Given the description of an element on the screen output the (x, y) to click on. 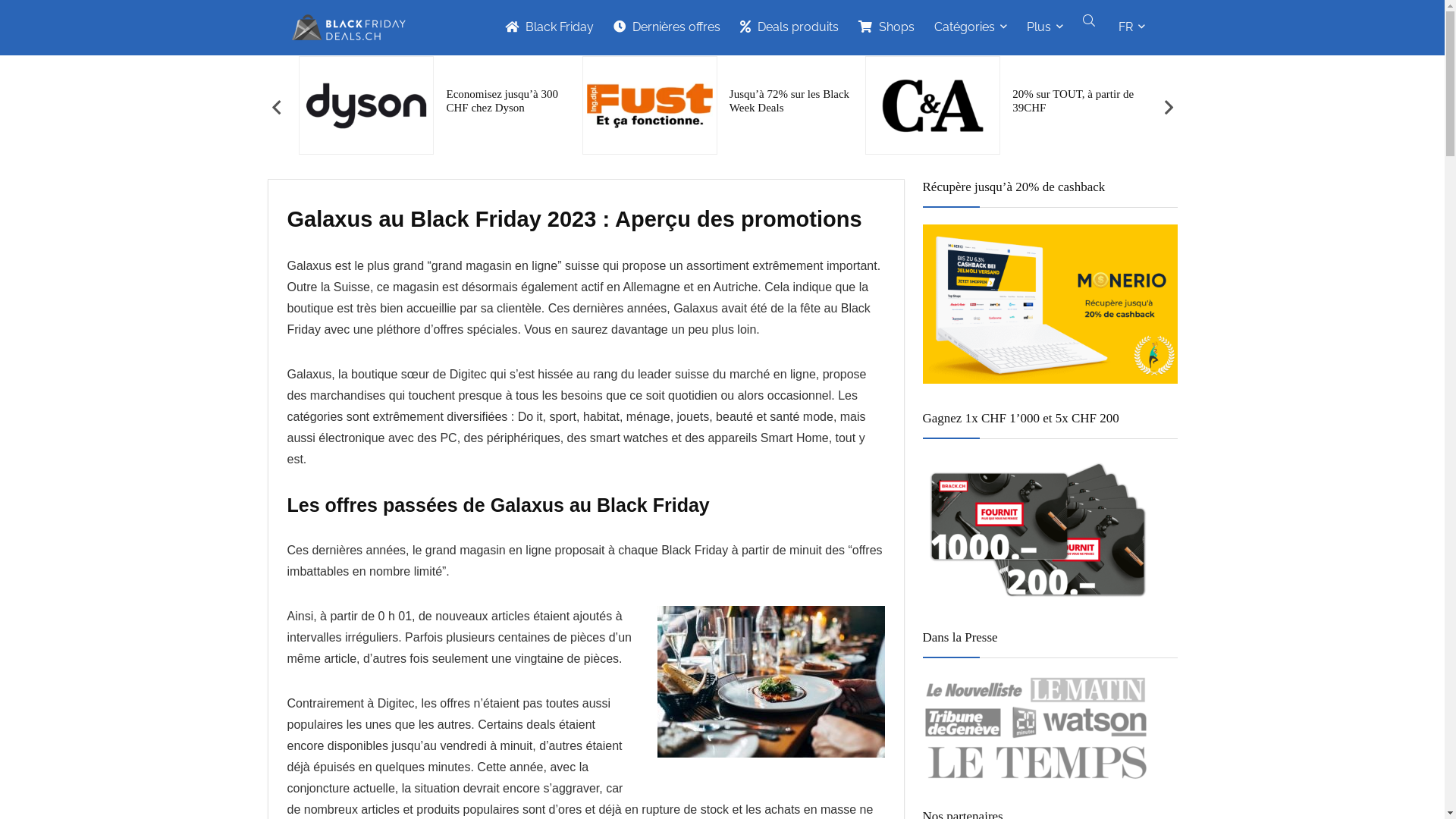
Deals produits Element type: text (788, 27)
Dans la Presse Element type: hover (1035, 727)
Black Friday chez microspot.ch Element type: text (230, 100)
Black Friday Element type: text (548, 27)
FR Element type: text (1131, 27)
Plus Element type: text (1044, 27)
Shops Element type: text (885, 27)
